Given the description of an element on the screen output the (x, y) to click on. 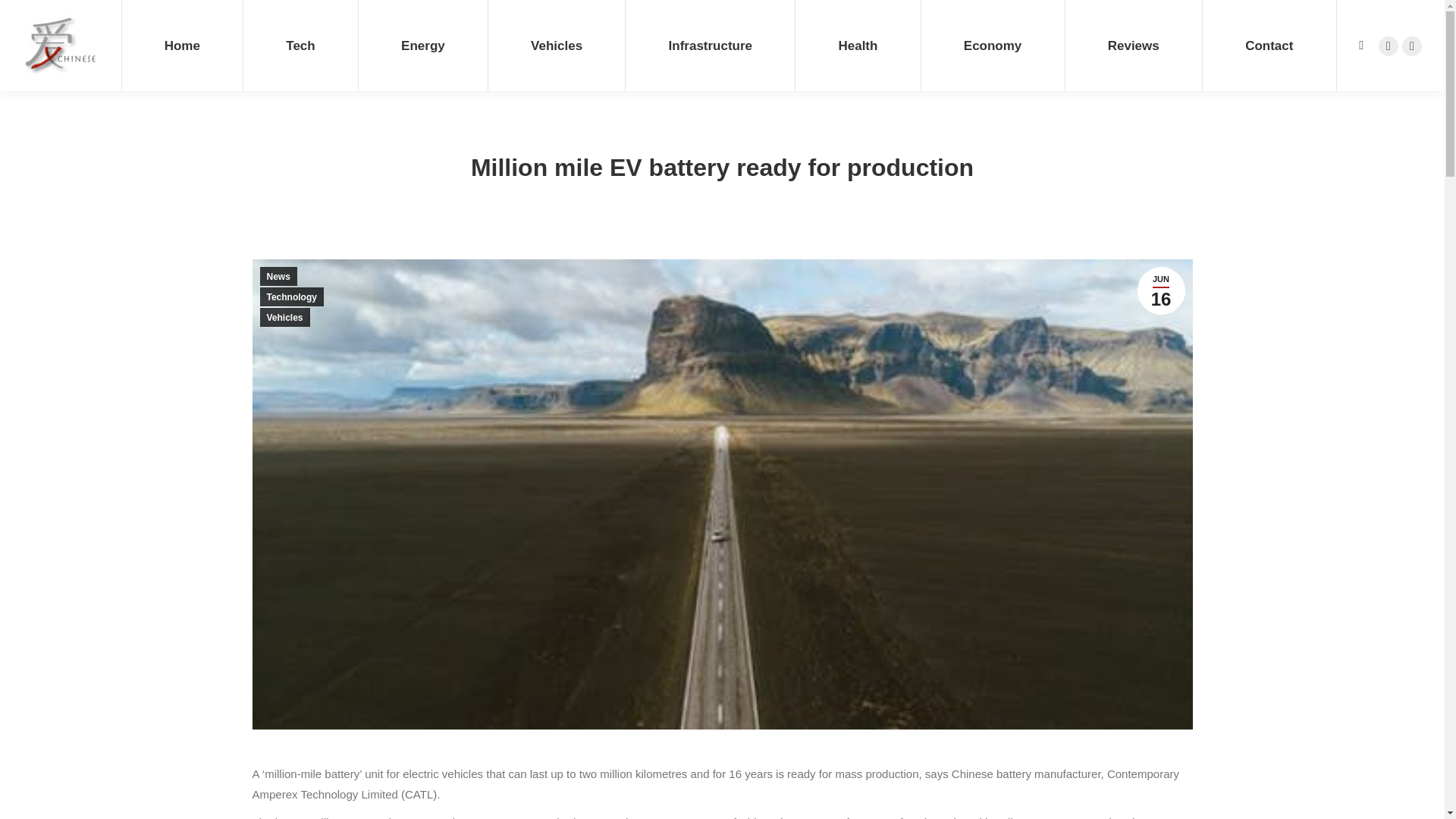
Reviews (1133, 45)
Go! (24, 17)
Economy (992, 45)
Facebook page opens in new window (1387, 46)
Twitter page opens in new window (1412, 46)
Energy (422, 45)
Health (857, 45)
Contact (1269, 45)
Vehicles (555, 45)
Tech (300, 45)
12:45 pm (1161, 290)
Infrastructure (710, 45)
Twitter page opens in new window (1412, 46)
Home (181, 45)
Facebook page opens in new window (1387, 46)
